Given the description of an element on the screen output the (x, y) to click on. 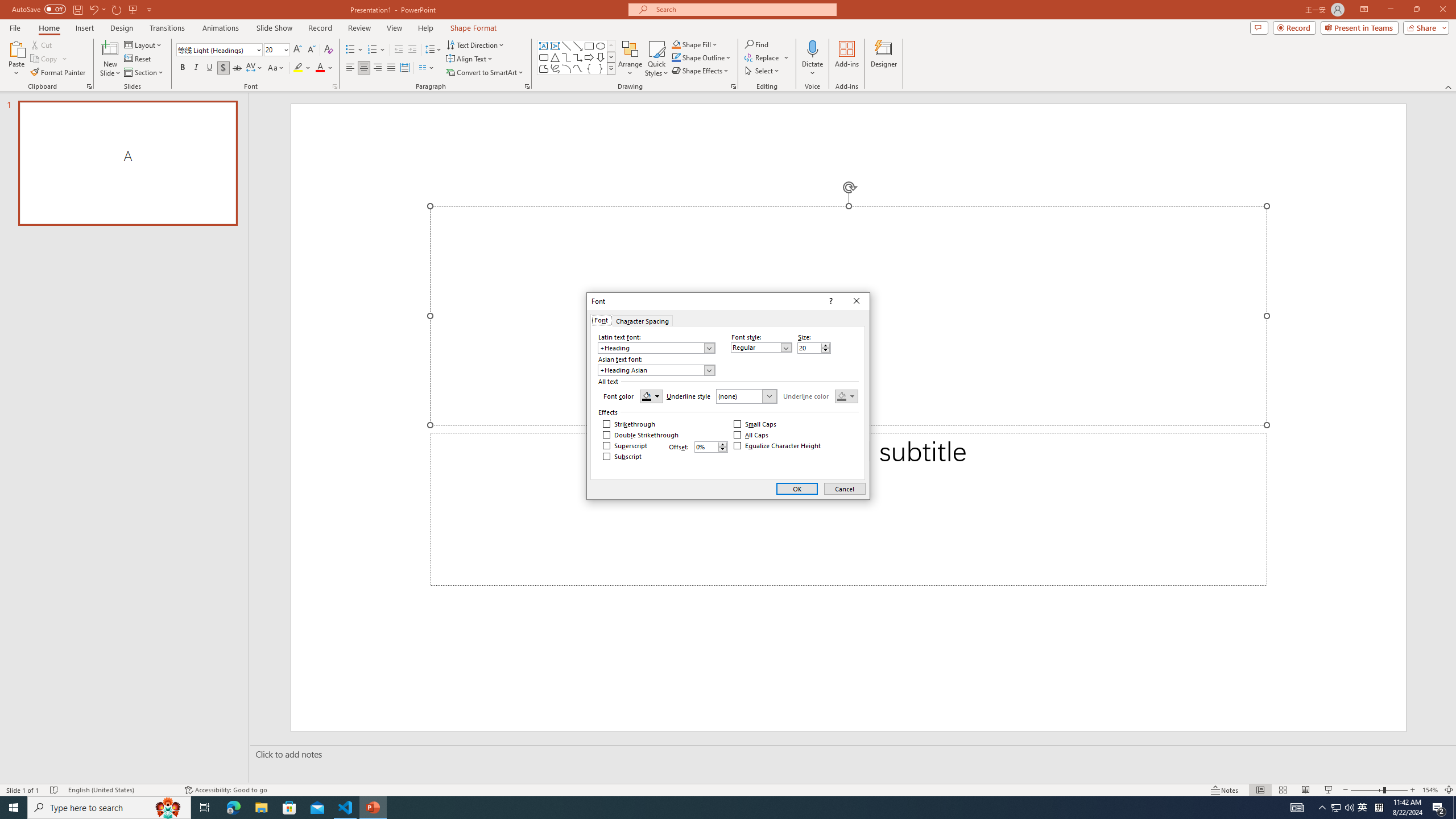
AutomationID: ShapesInsertGallery (576, 57)
Increase Font Size (297, 49)
Numbering (376, 49)
Running applications (707, 807)
Font Size (273, 49)
Shape Effects (700, 69)
Section (144, 72)
Connector: Elbow (566, 57)
Decrease Font Size (310, 49)
